Given the description of an element on the screen output the (x, y) to click on. 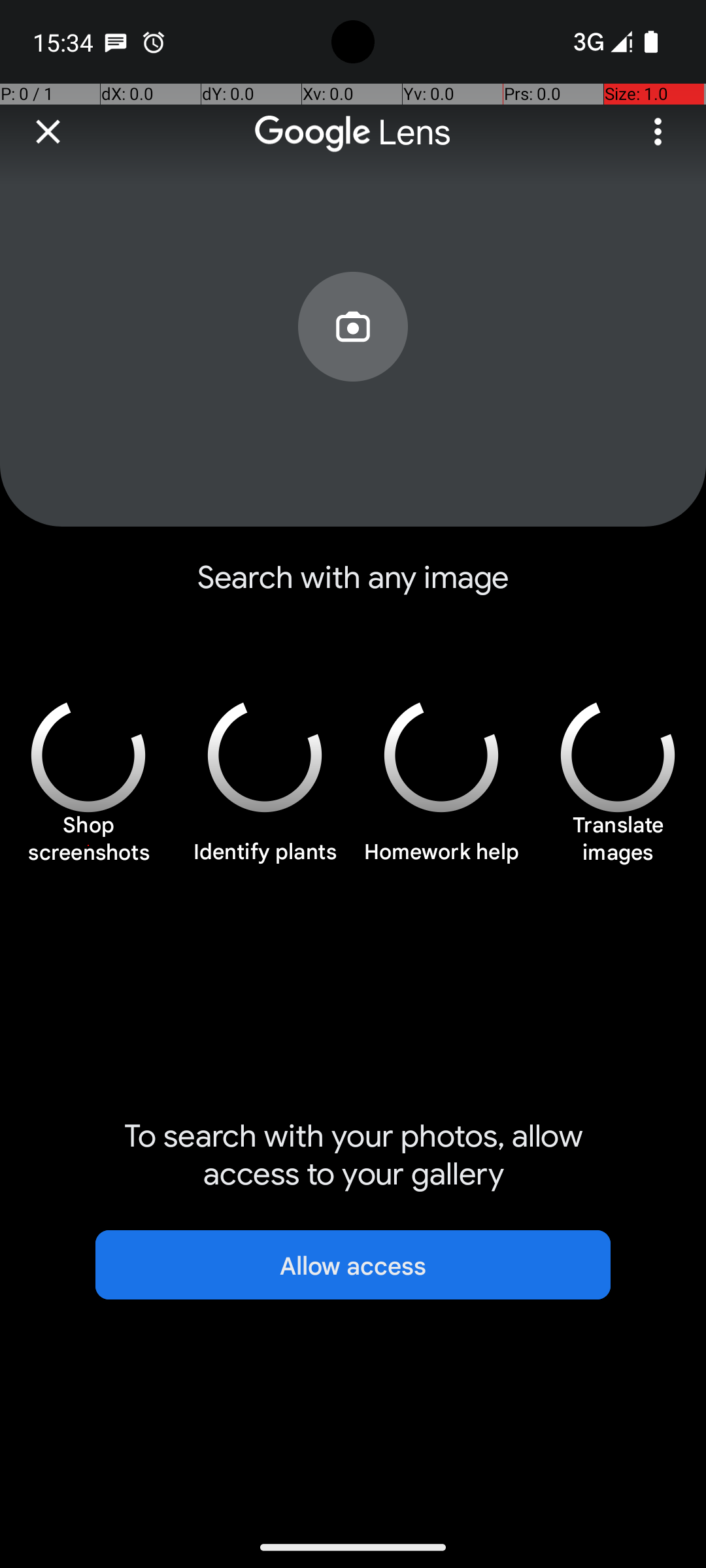
Search with your camera Element type: android.widget.FrameLayout (353, 356)
Search with any image Element type: android.widget.TextView (353, 587)
Shop screenshots Element type: android.widget.TextView (88, 845)
Identify plants Element type: android.widget.TextView (264, 858)
Homework help Element type: android.widget.TextView (441, 858)
Translate images Element type: android.widget.TextView (617, 845)
To search with your photos, allow access to your gallery Element type: android.widget.TextView (352, 1154)
Allow access Element type: android.widget.Button (352, 1264)
